Given the description of an element on the screen output the (x, y) to click on. 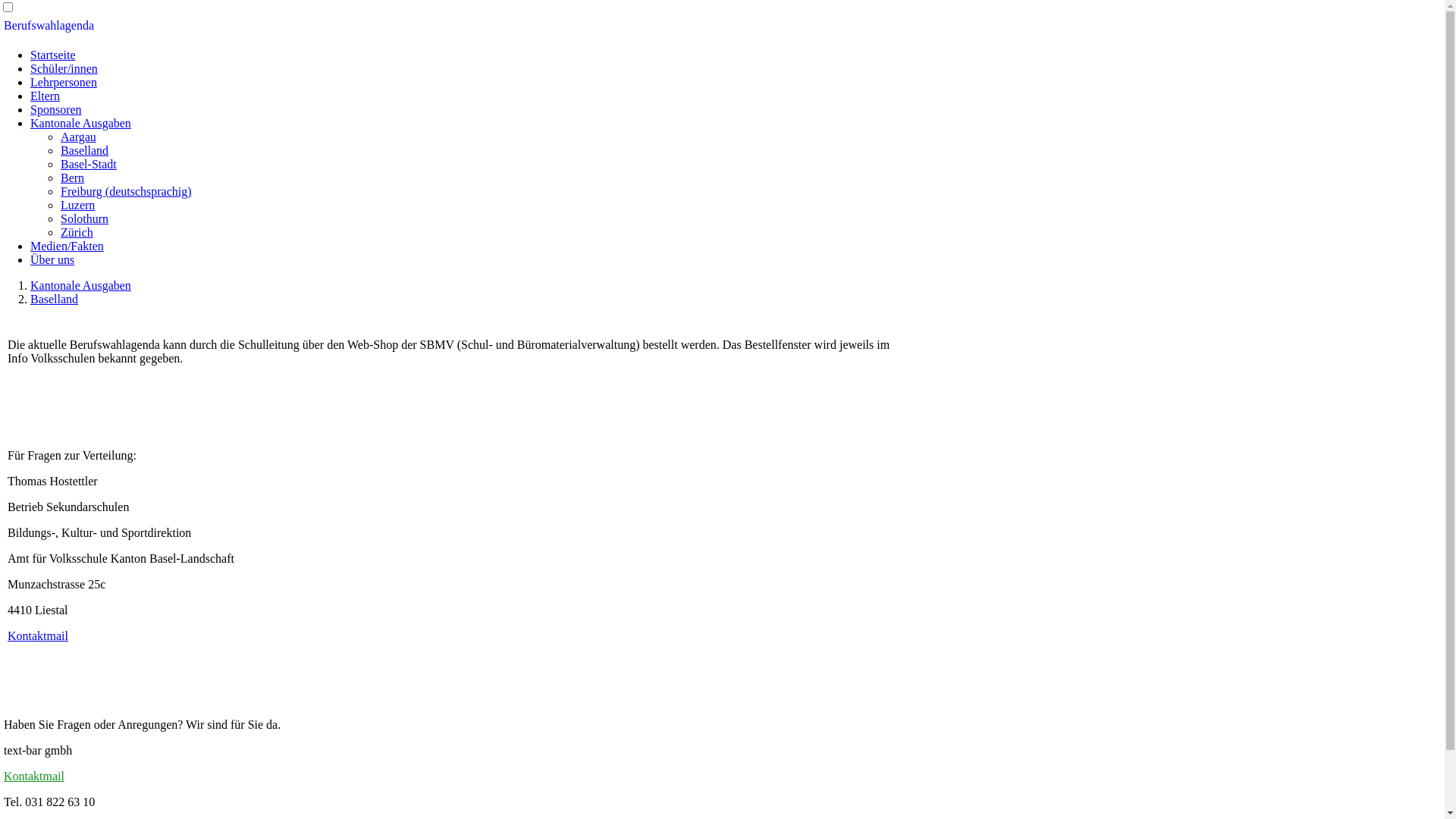
Basel-Stadt Element type: text (88, 163)
Startseite Element type: text (52, 54)
Baselland Element type: text (84, 150)
Solothurn Element type: text (84, 218)
Eltern Element type: text (44, 95)
Kantonale Ausgaben Element type: text (80, 285)
Lehrpersonen Element type: text (63, 81)
Kontaktmail Element type: text (37, 635)
Berufswahlagenda Element type: text (48, 24)
Kantonale Ausgaben Element type: text (80, 122)
Baselland Element type: text (54, 298)
Bern Element type: text (72, 177)
Freiburg (deutschsprachig) Element type: text (125, 191)
Sponsoren Element type: text (55, 109)
Aargau Element type: text (78, 136)
Kontaktmail Element type: text (33, 775)
Medien/Fakten Element type: text (66, 245)
Luzern Element type: text (77, 204)
